Given the description of an element on the screen output the (x, y) to click on. 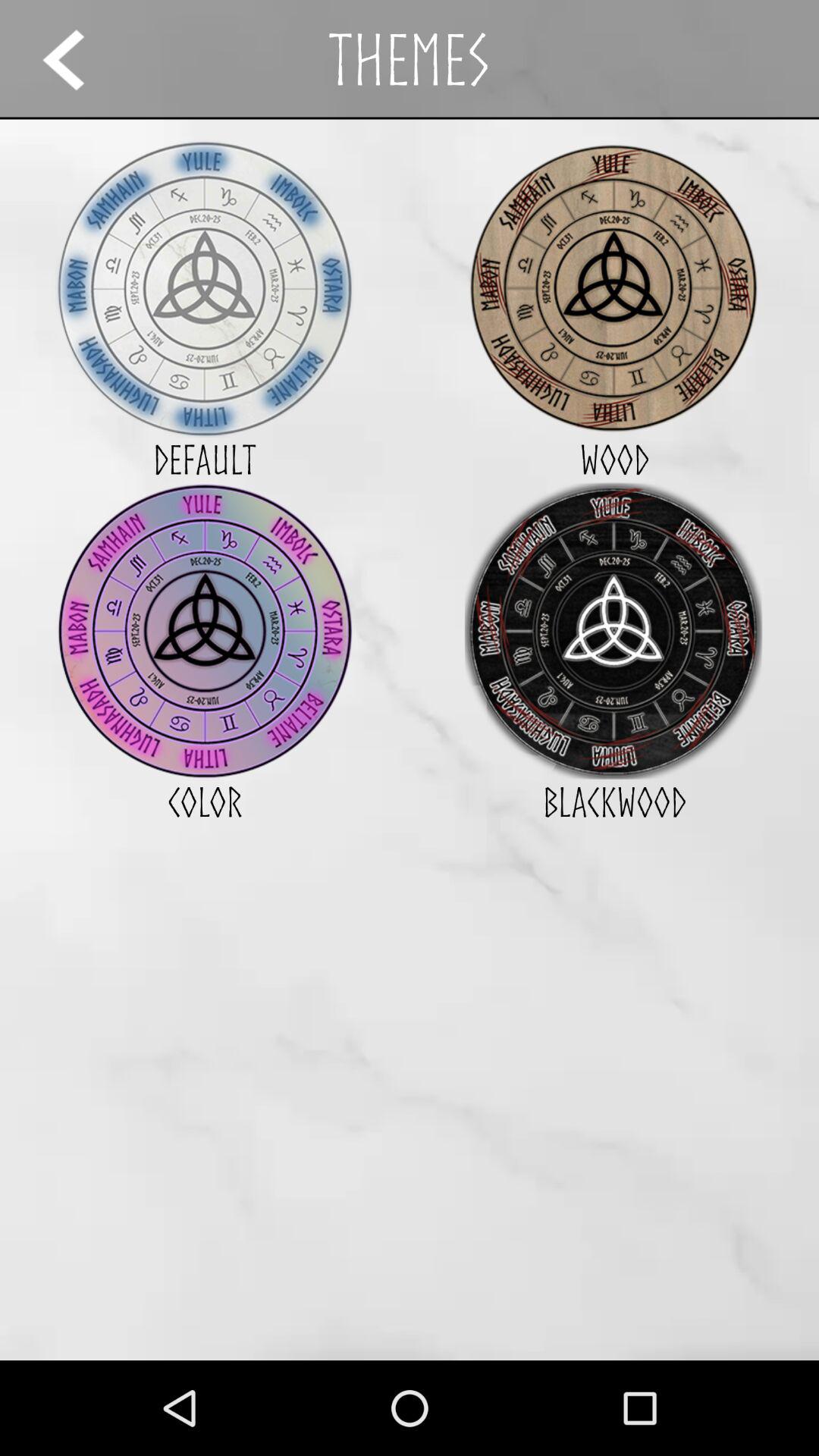
go back to previous page (77, 59)
